Given the description of an element on the screen output the (x, y) to click on. 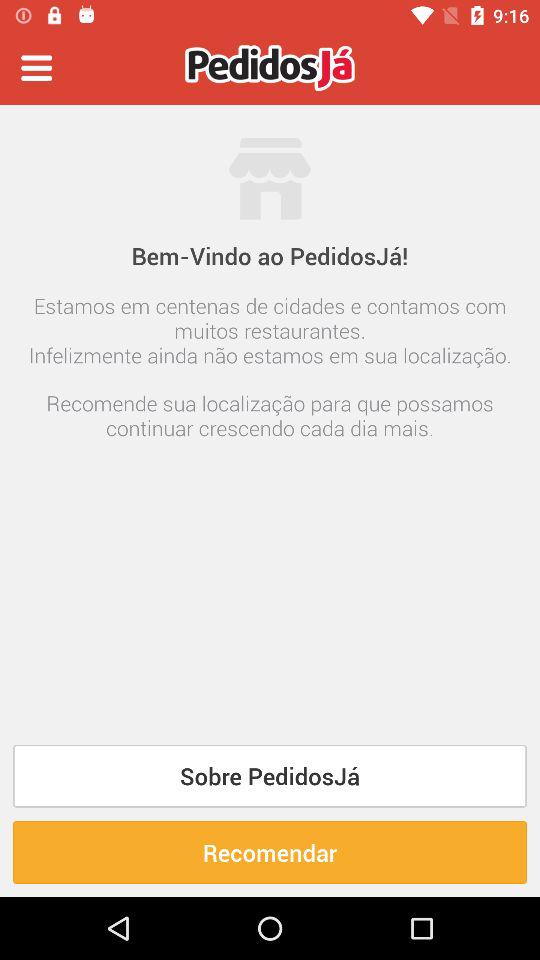
menu button (36, 68)
